Given the description of an element on the screen output the (x, y) to click on. 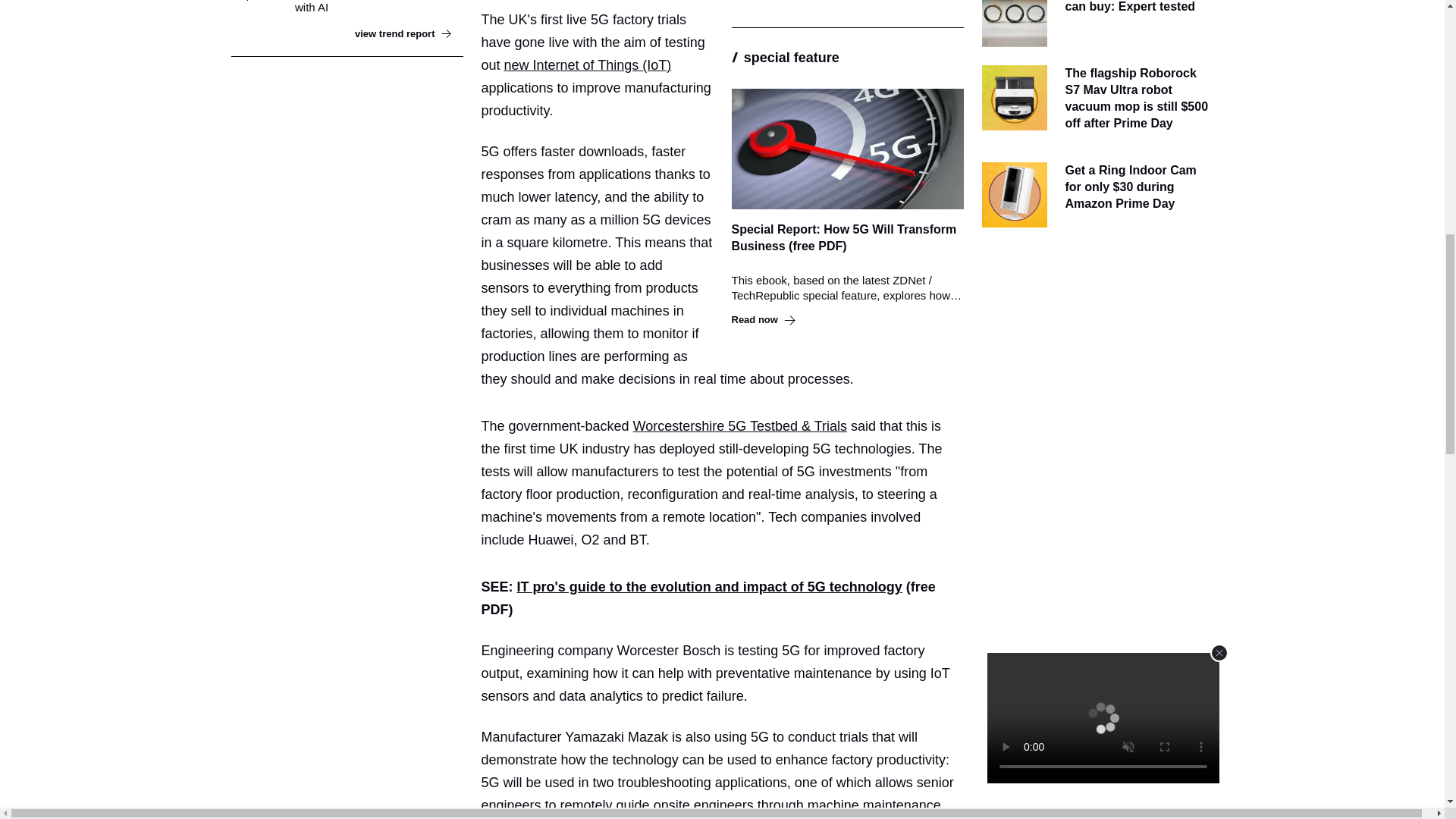
3rd party ad content (1097, 339)
